Given the description of an element on the screen output the (x, y) to click on. 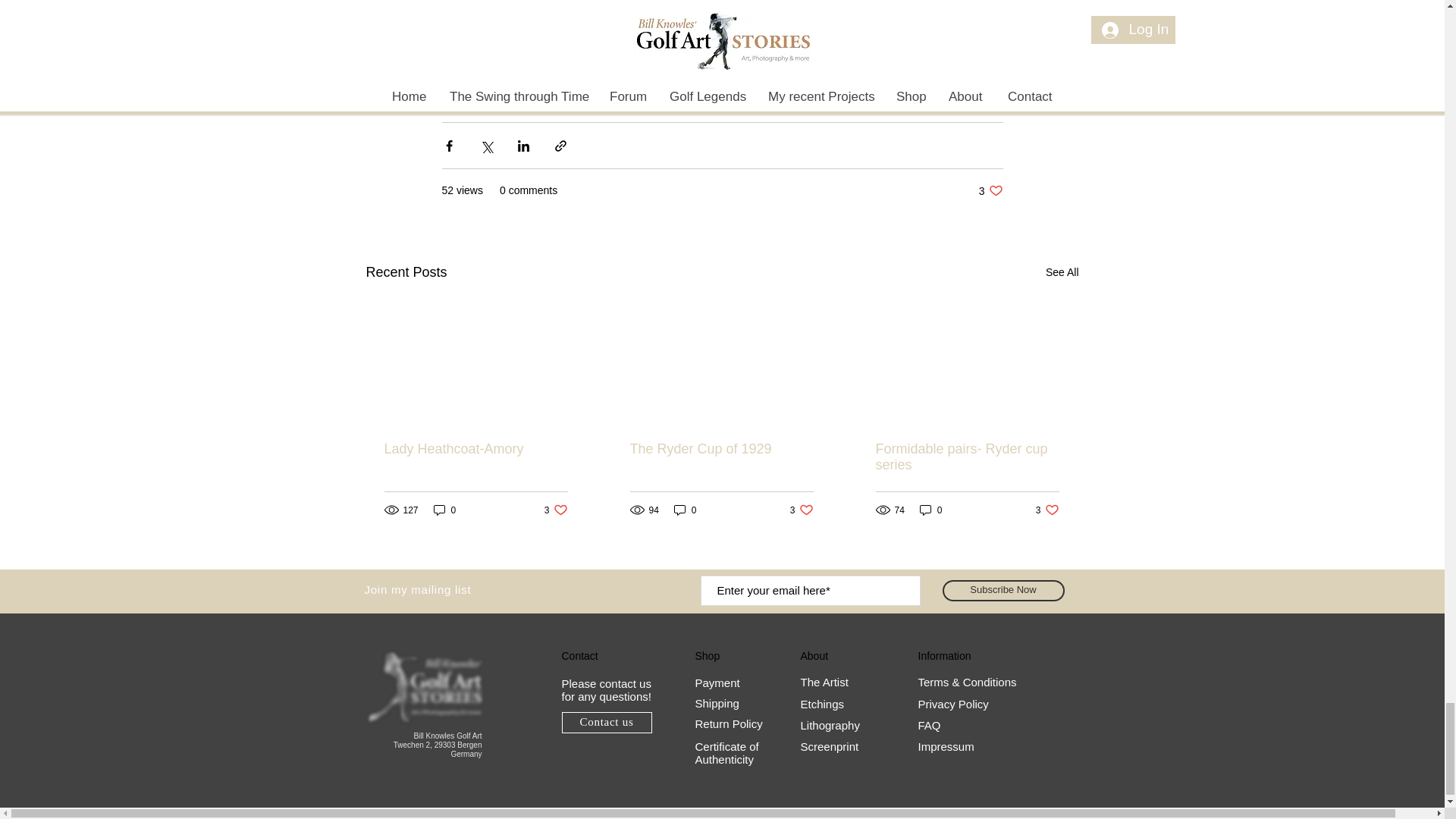
0 (445, 509)
Lady Heathcoat-Amory (555, 509)
The Ryder Cup of 1929 (475, 449)
See All (720, 449)
0 (990, 190)
